Given the description of an element on the screen output the (x, y) to click on. 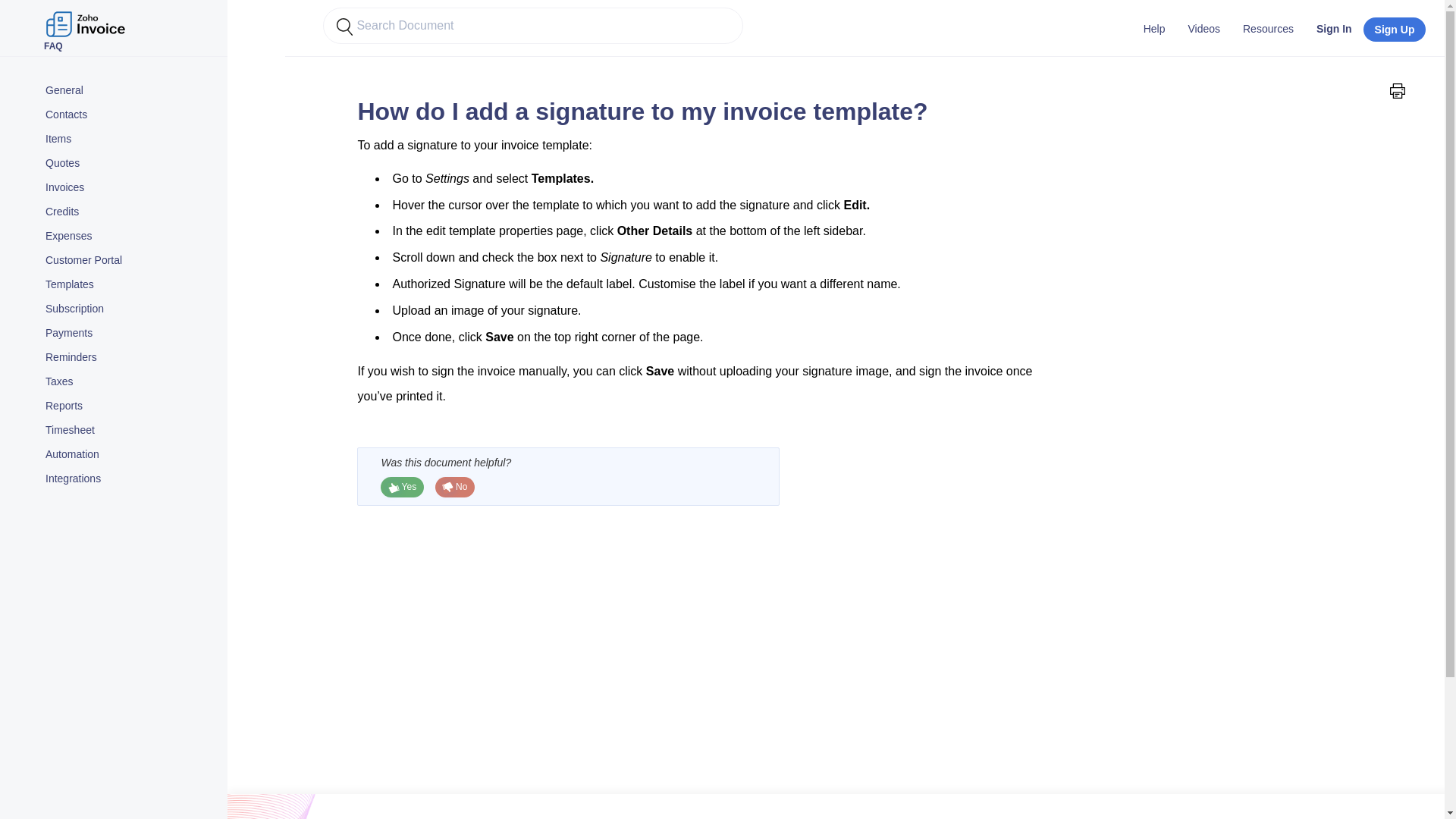
Credits (129, 211)
Customer Portal (129, 260)
Subscription (129, 309)
Integrations (129, 478)
Taxes (129, 382)
Videos (1203, 28)
Sign Up (1394, 29)
Automation (129, 454)
Contacts (129, 115)
Resources (1267, 28)
Timesheet (129, 430)
Payments (129, 333)
Invoices (129, 187)
Print this page (1397, 90)
Reminders (129, 357)
